Given the description of an element on the screen output the (x, y) to click on. 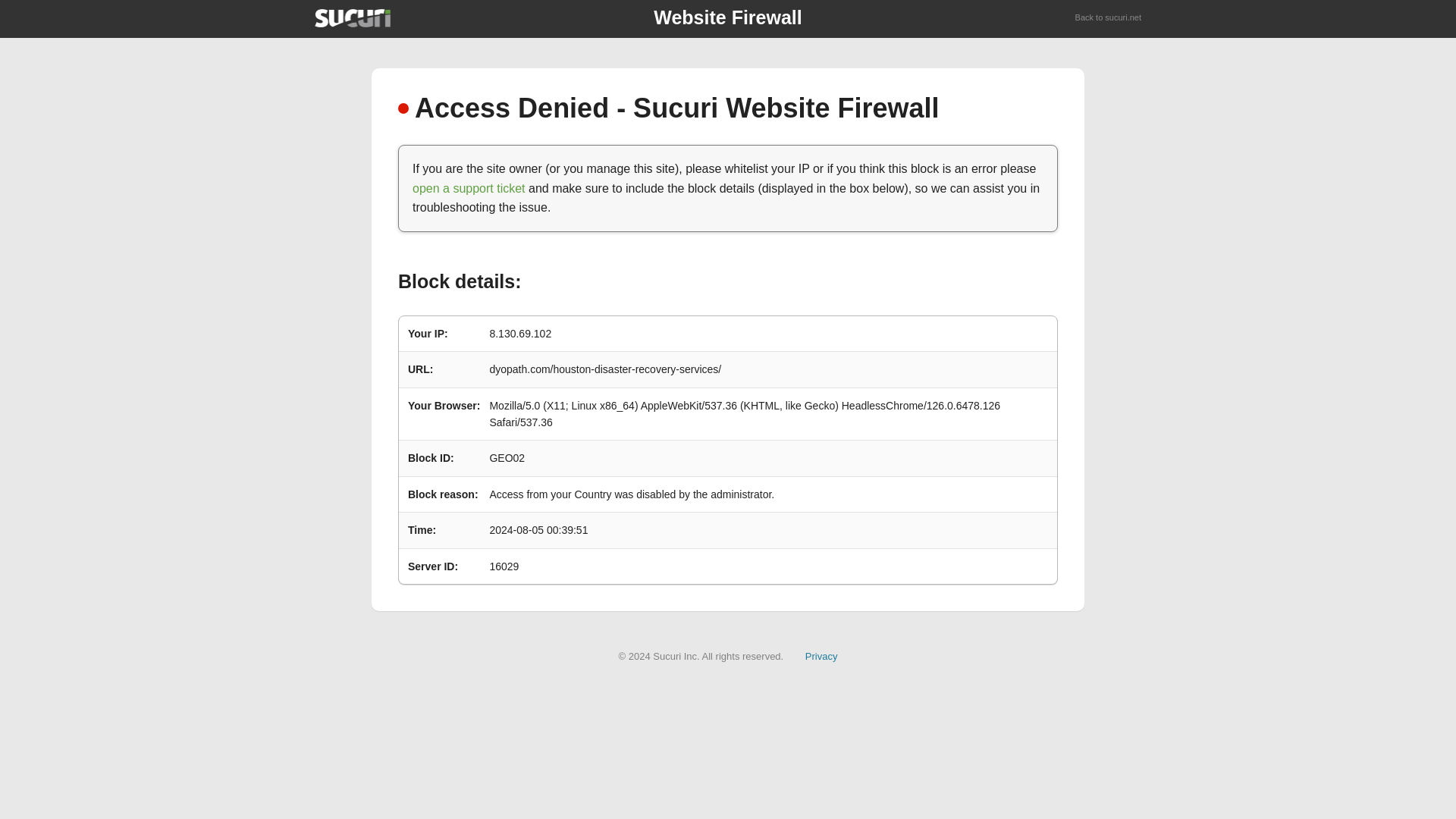
Privacy (821, 655)
open a support ticket (468, 187)
Back to sucuri.net (1108, 18)
